Given the description of an element on the screen output the (x, y) to click on. 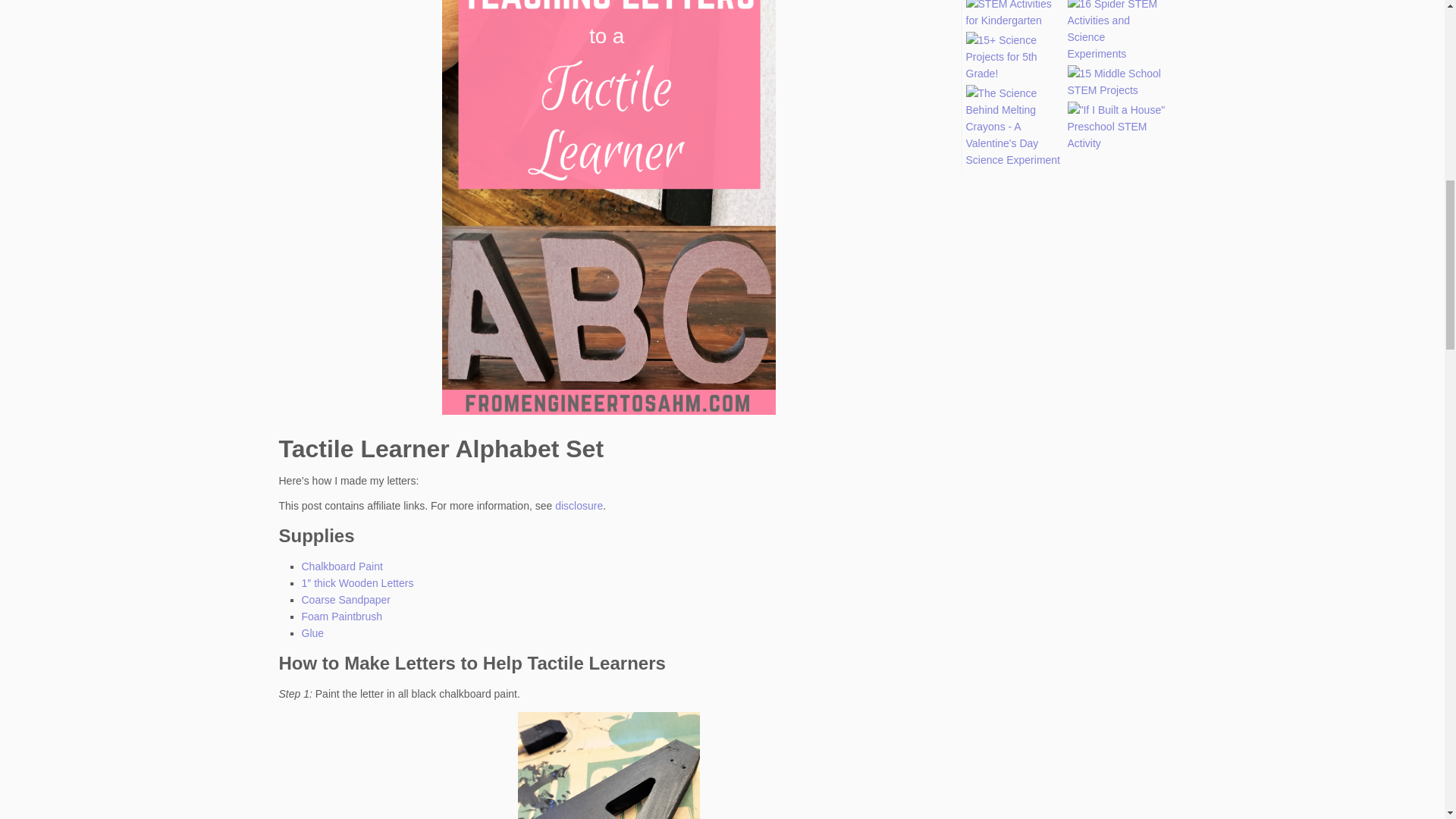
Coarse Sandpaper (346, 599)
disclosure (578, 505)
Chalkboard Paint (341, 566)
